Given the description of an element on the screen output the (x, y) to click on. 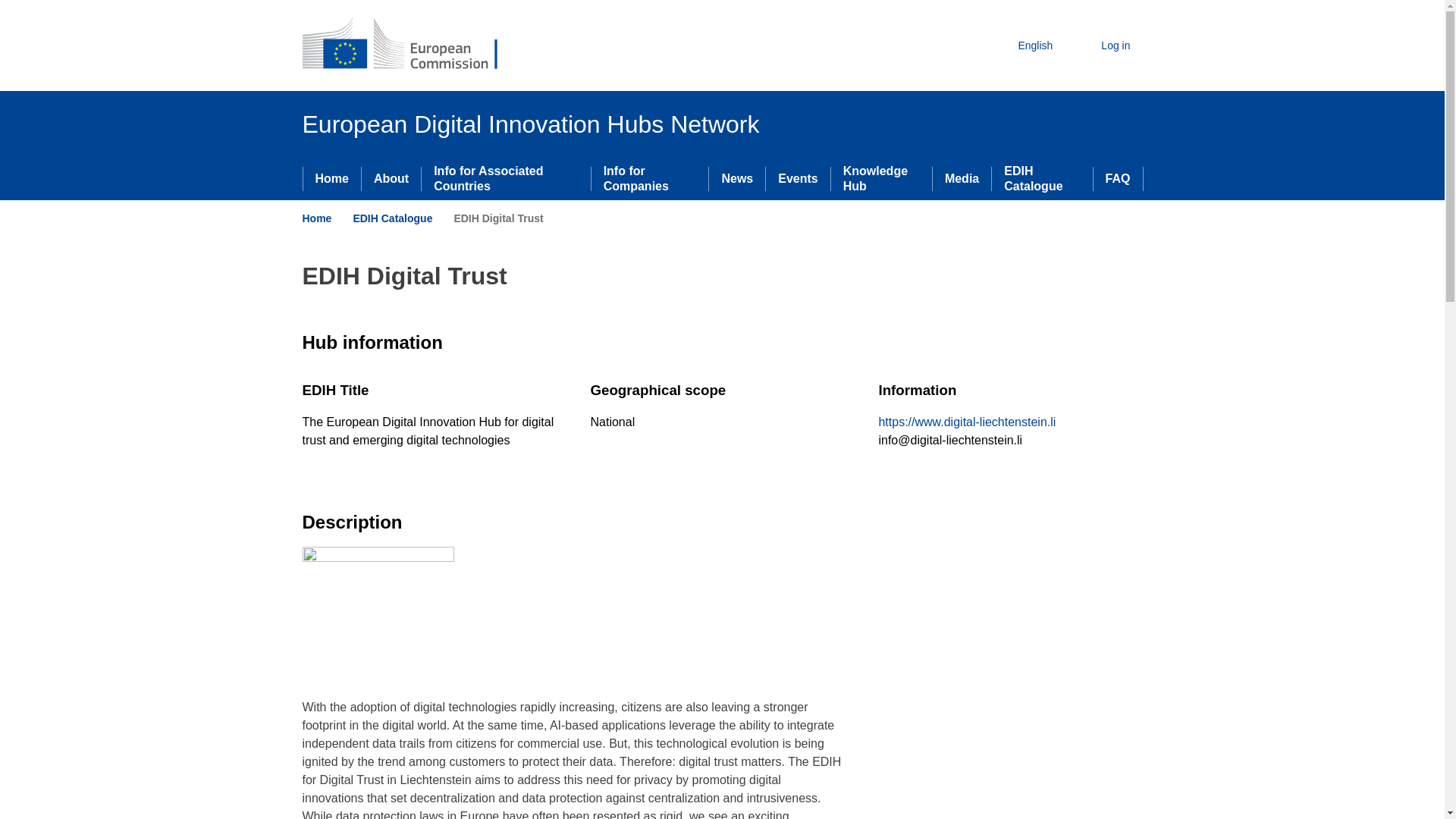
News (737, 178)
Events (797, 178)
Info for Companies (650, 178)
About (390, 178)
Log in (1102, 45)
Knowledge Hub (881, 178)
Home (316, 218)
Home (331, 178)
FAQ (1117, 178)
Skip to main content (6, 6)
English (1022, 45)
Info for Associated Countries (505, 178)
European Commission (411, 45)
EDIH Catalogue (1041, 178)
EDIH Catalogue (392, 218)
